Given the description of an element on the screen output the (x, y) to click on. 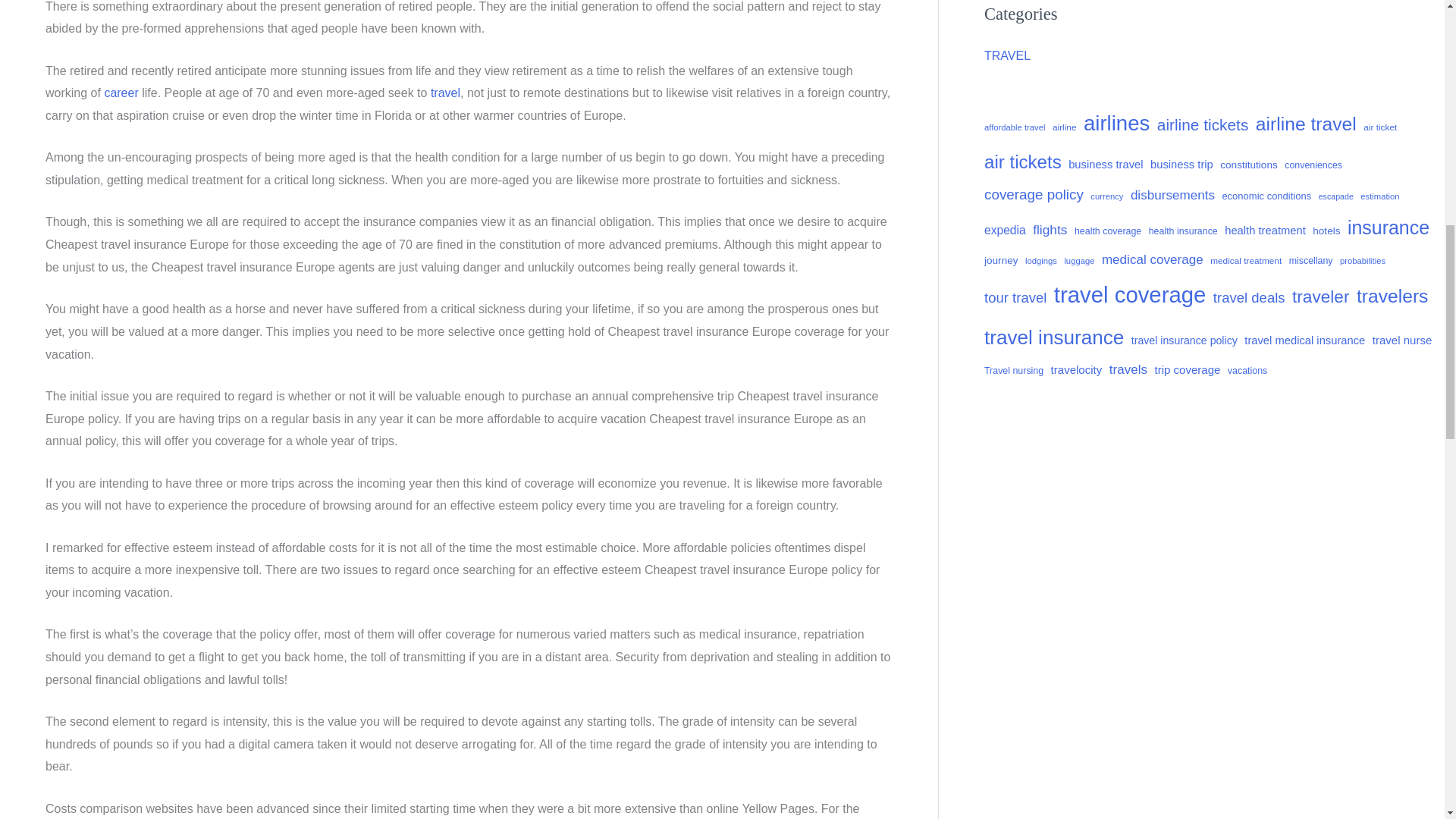
career (120, 92)
TRAVEL (1007, 55)
travel (445, 92)
